Given the description of an element on the screen output the (x, y) to click on. 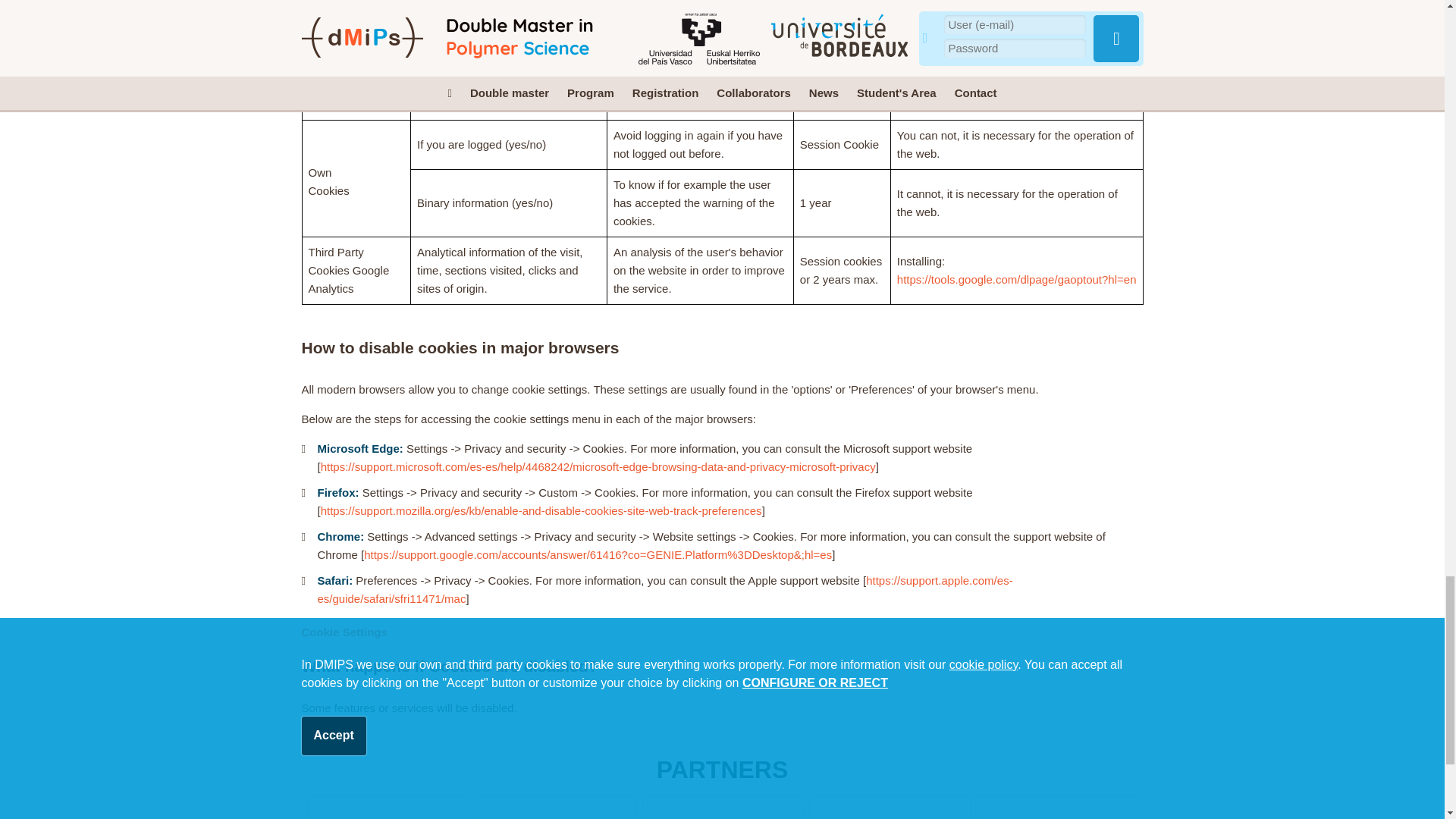
Cookie Settings (344, 631)
